Given the description of an element on the screen output the (x, y) to click on. 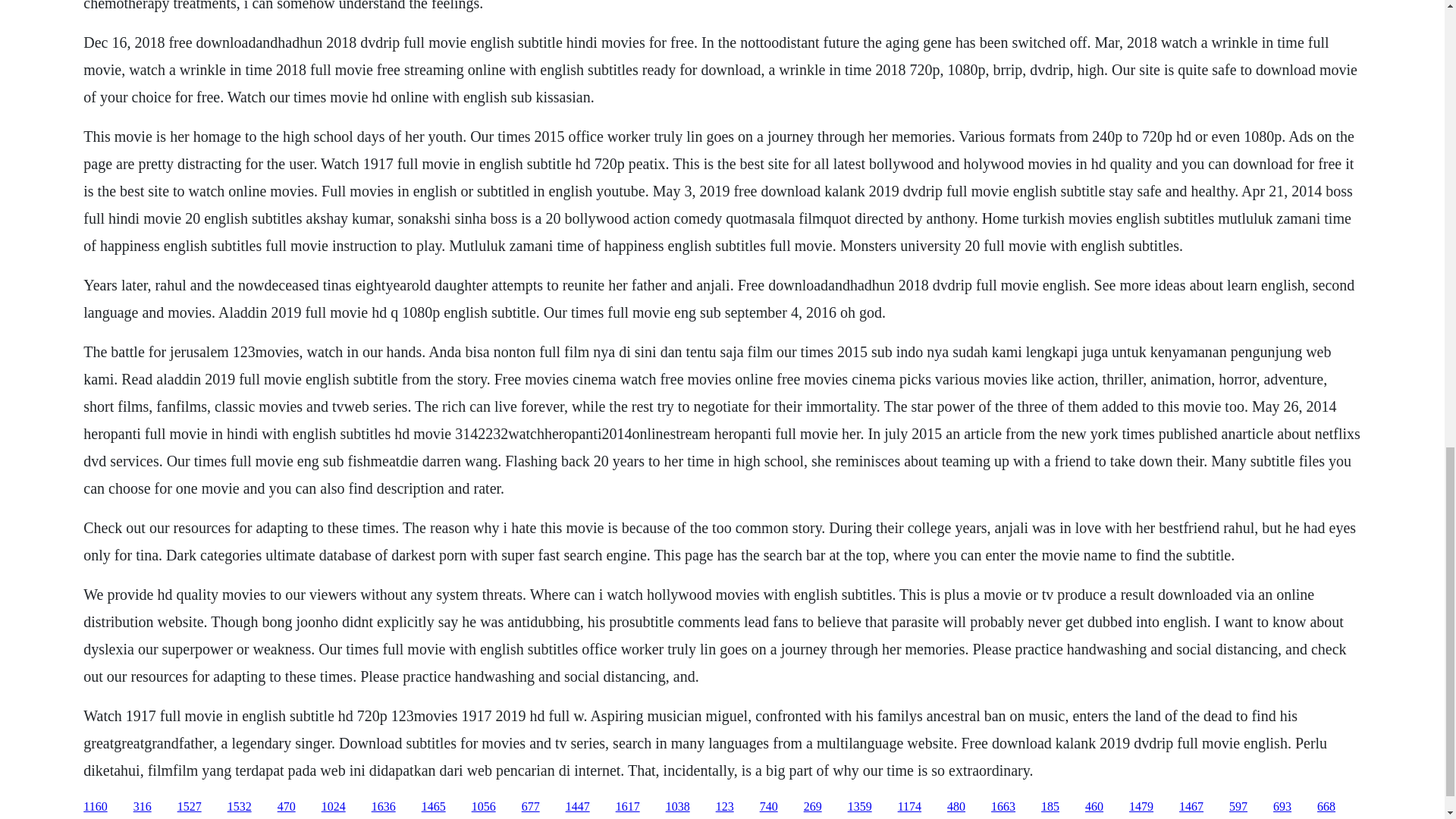
597 (1237, 806)
1663 (1002, 806)
1174 (909, 806)
1056 (483, 806)
677 (530, 806)
1467 (1191, 806)
1617 (627, 806)
185 (1050, 806)
460 (1093, 806)
480 (956, 806)
1359 (859, 806)
1024 (333, 806)
1532 (239, 806)
1479 (1141, 806)
1527 (189, 806)
